Given the description of an element on the screen output the (x, y) to click on. 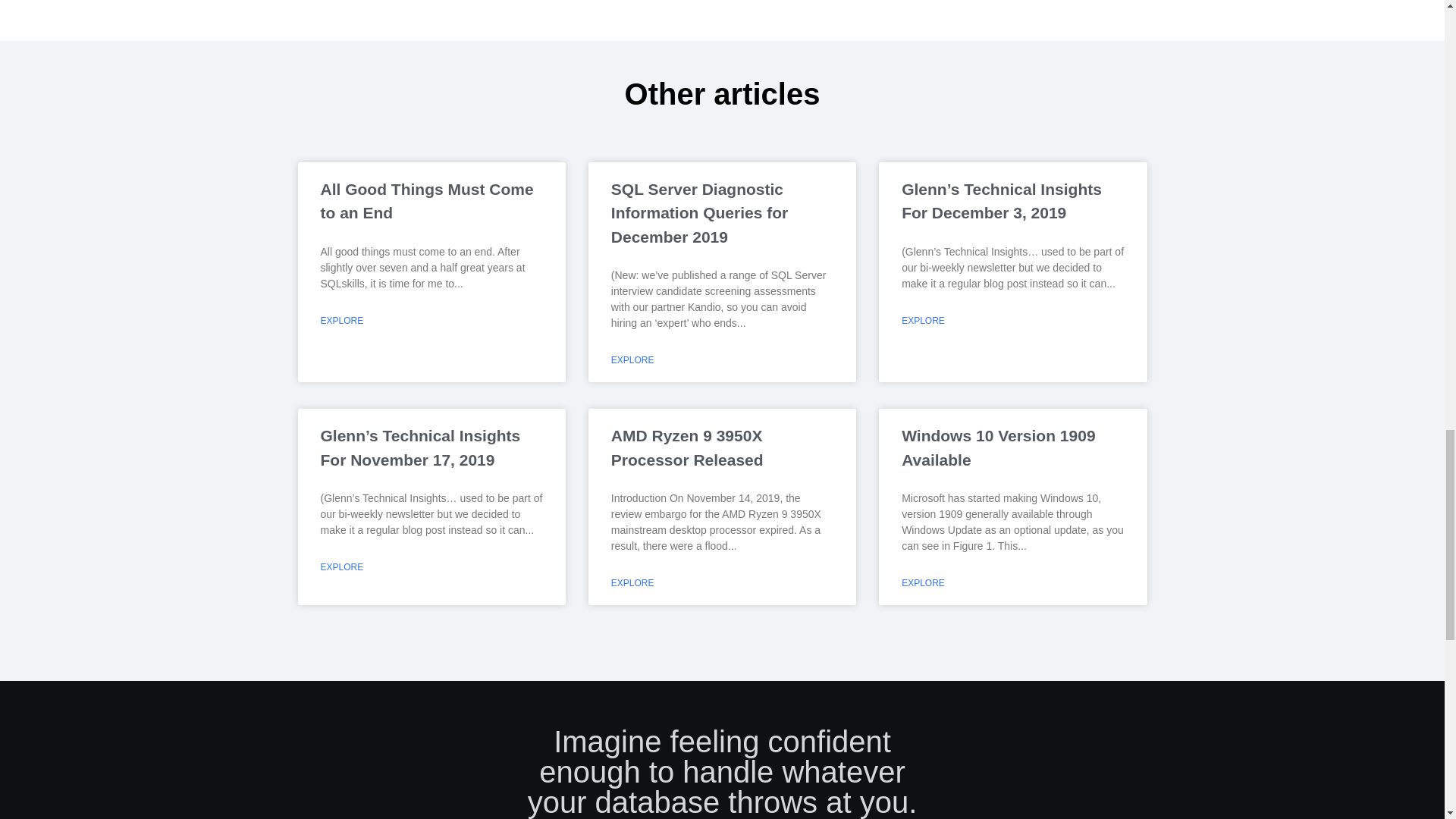
EXPLORE (632, 359)
EXPLORE (922, 320)
EXPLORE (632, 582)
SQL Server Diagnostic Information Queries for December 2019 (699, 212)
EXPLORE (341, 320)
EXPLORE (341, 567)
EXPLORE (922, 582)
Windows 10 Version 1909 Available (997, 447)
All Good Things Must Come to an End (426, 200)
AMD Ryzen 9 3950X Processor Released (686, 447)
